Given the description of an element on the screen output the (x, y) to click on. 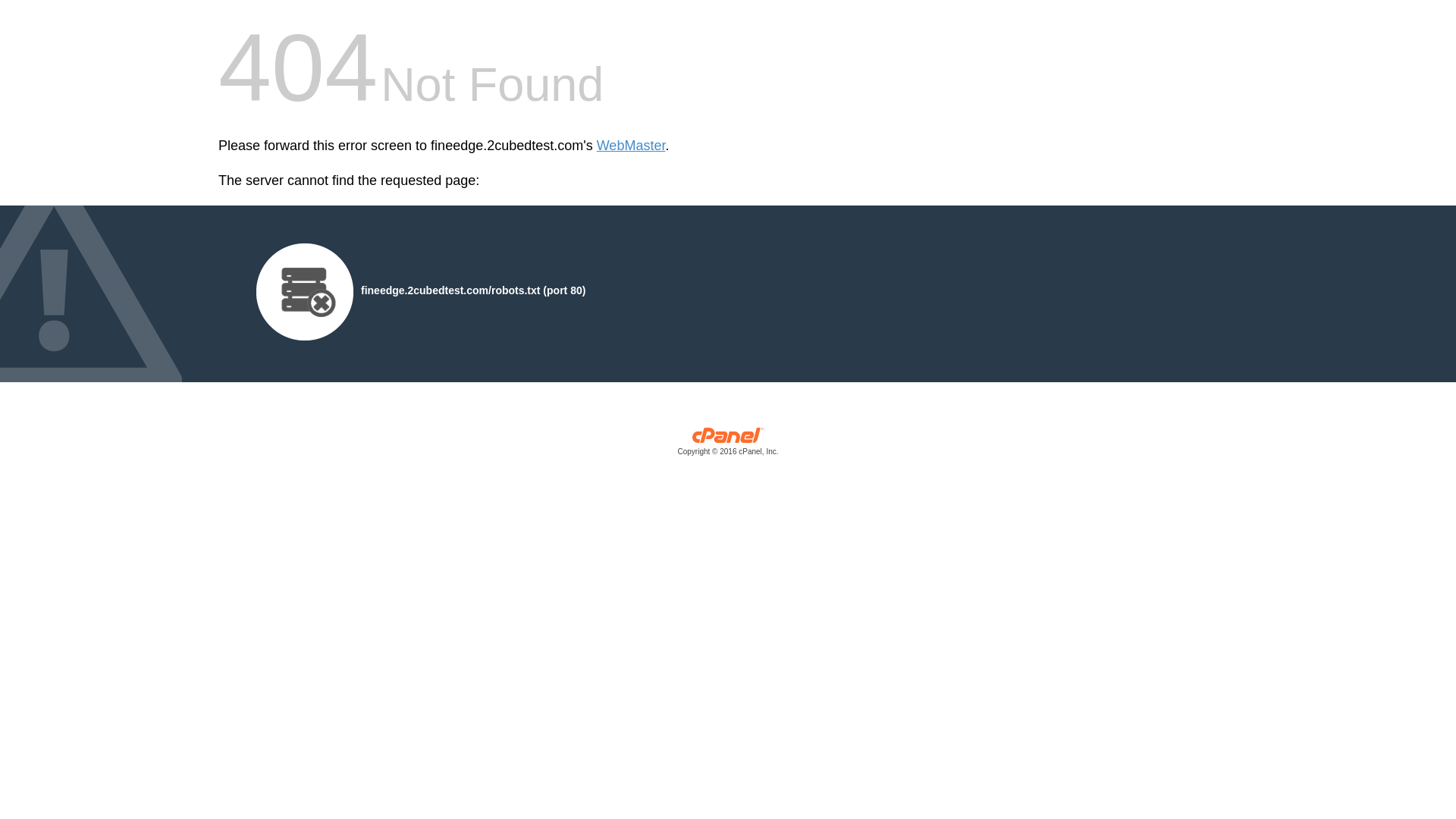
WebMaster Element type: text (630, 145)
